Given the description of an element on the screen output the (x, y) to click on. 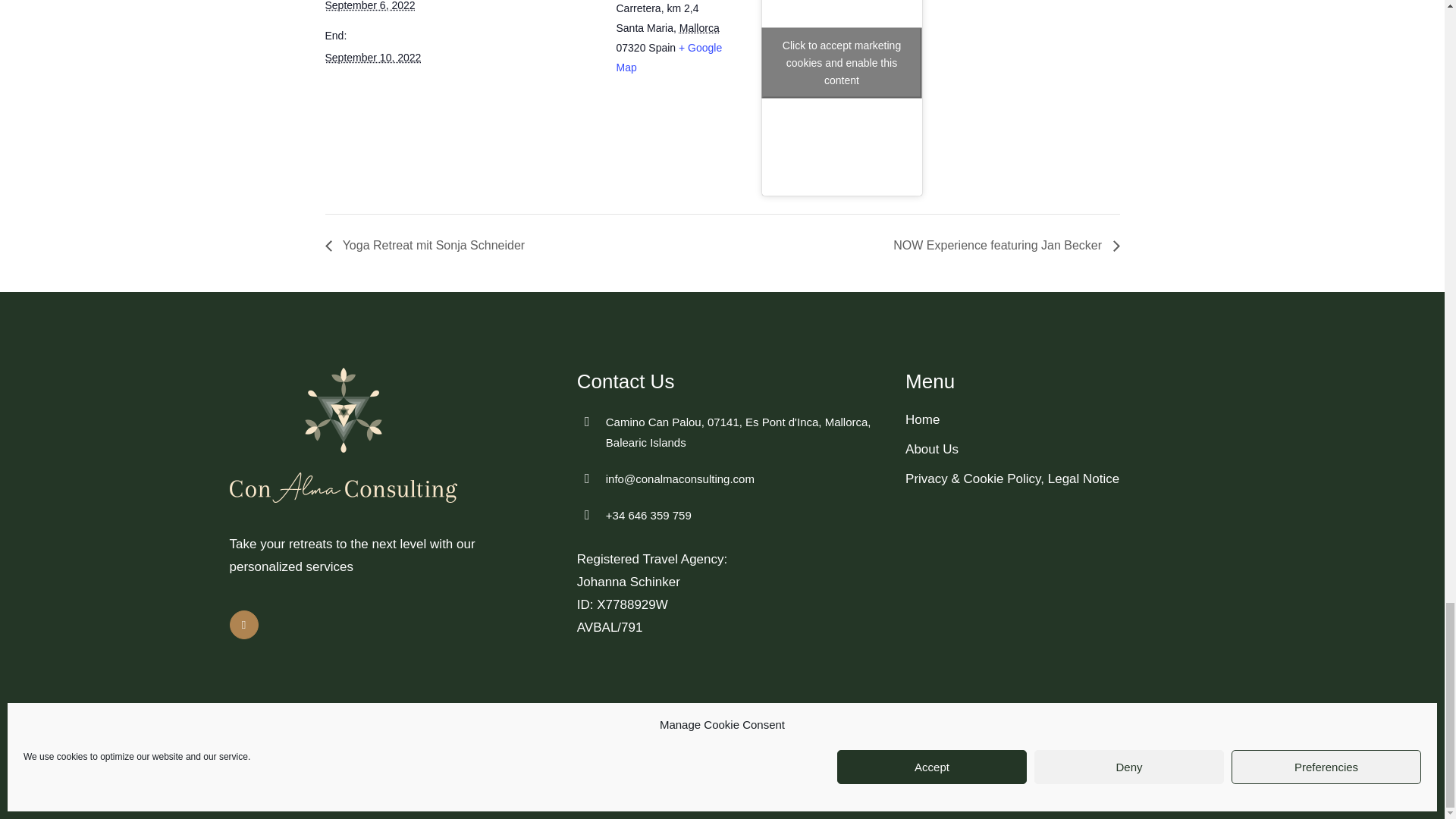
Mallorca (699, 28)
Page 1 (729, 593)
2022-09-10 (372, 57)
Click to view a Google Map (668, 57)
2022-09-06 (369, 5)
